Given the description of an element on the screen output the (x, y) to click on. 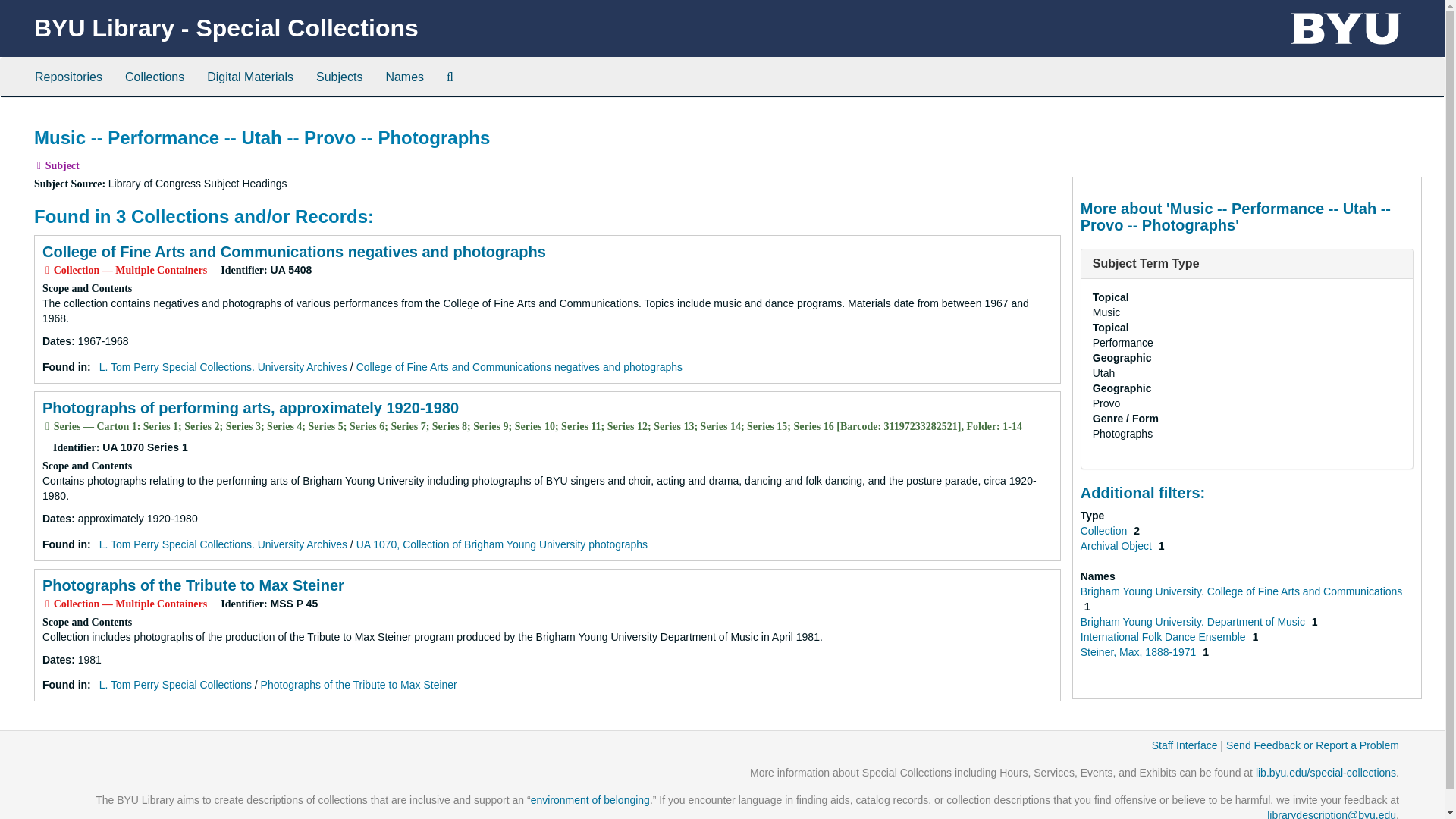
UA 1070, Collection of Brigham Young University photographs (501, 544)
Subject Term Type (1146, 263)
International Folk Dance Ensemble (1164, 636)
L. Tom Perry Special Collections (175, 684)
Collection (1104, 530)
Collections (154, 77)
L. Tom Perry Special Collections. University Archives (223, 544)
translation missing: en.dates (56, 340)
Archival Object (1117, 545)
L. Tom Perry Special Collections. University Archives (223, 367)
Page Actions (1130, 120)
Photographs of the Tribute to Max Steiner (192, 585)
translation missing: en.dates (56, 659)
Names (404, 77)
